Given the description of an element on the screen output the (x, y) to click on. 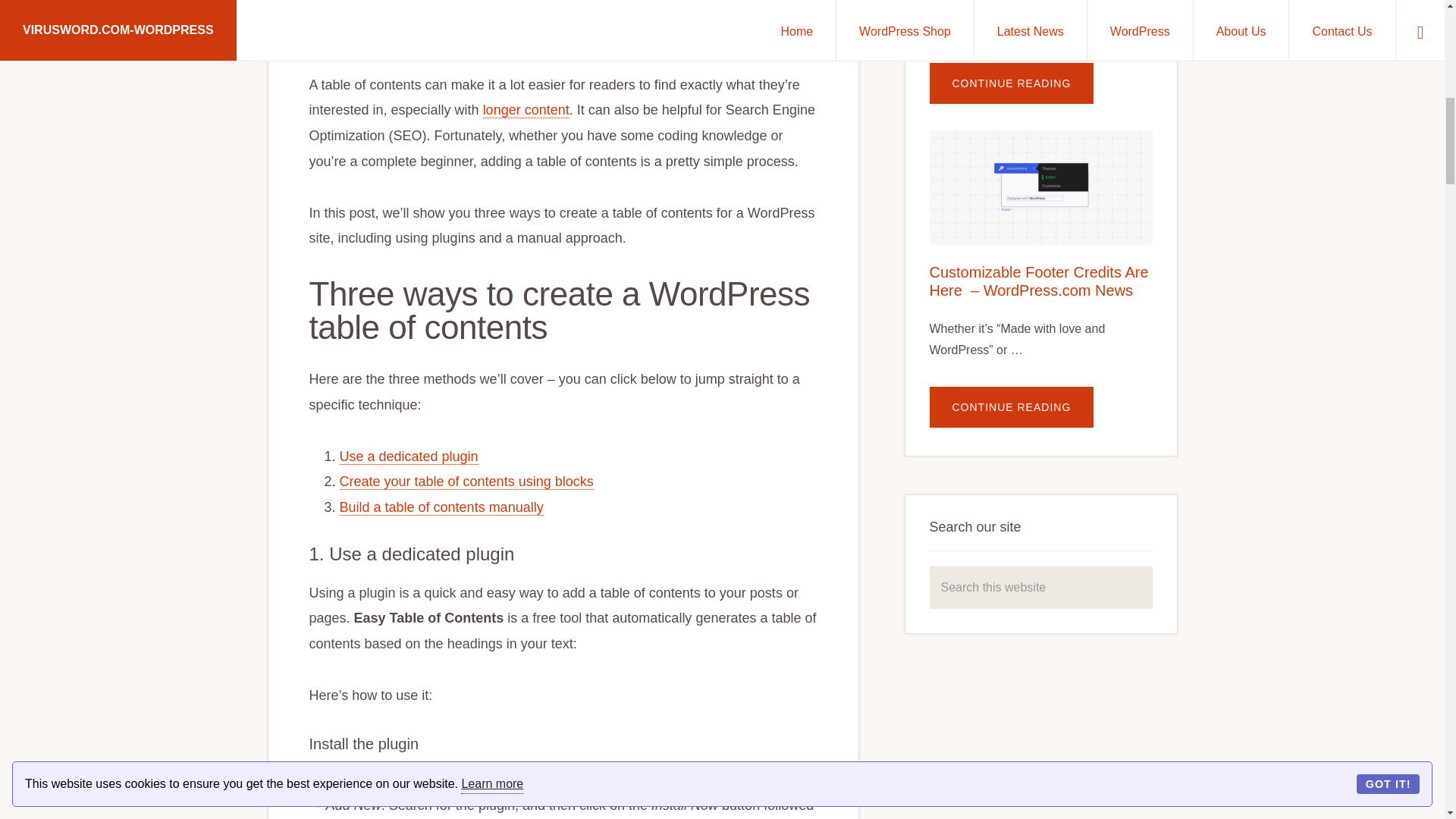
longer content (526, 109)
Use a dedicated plugin (409, 456)
Create your table of contents using blocks (466, 481)
Build a table of contents manually (441, 507)
